Given the description of an element on the screen output the (x, y) to click on. 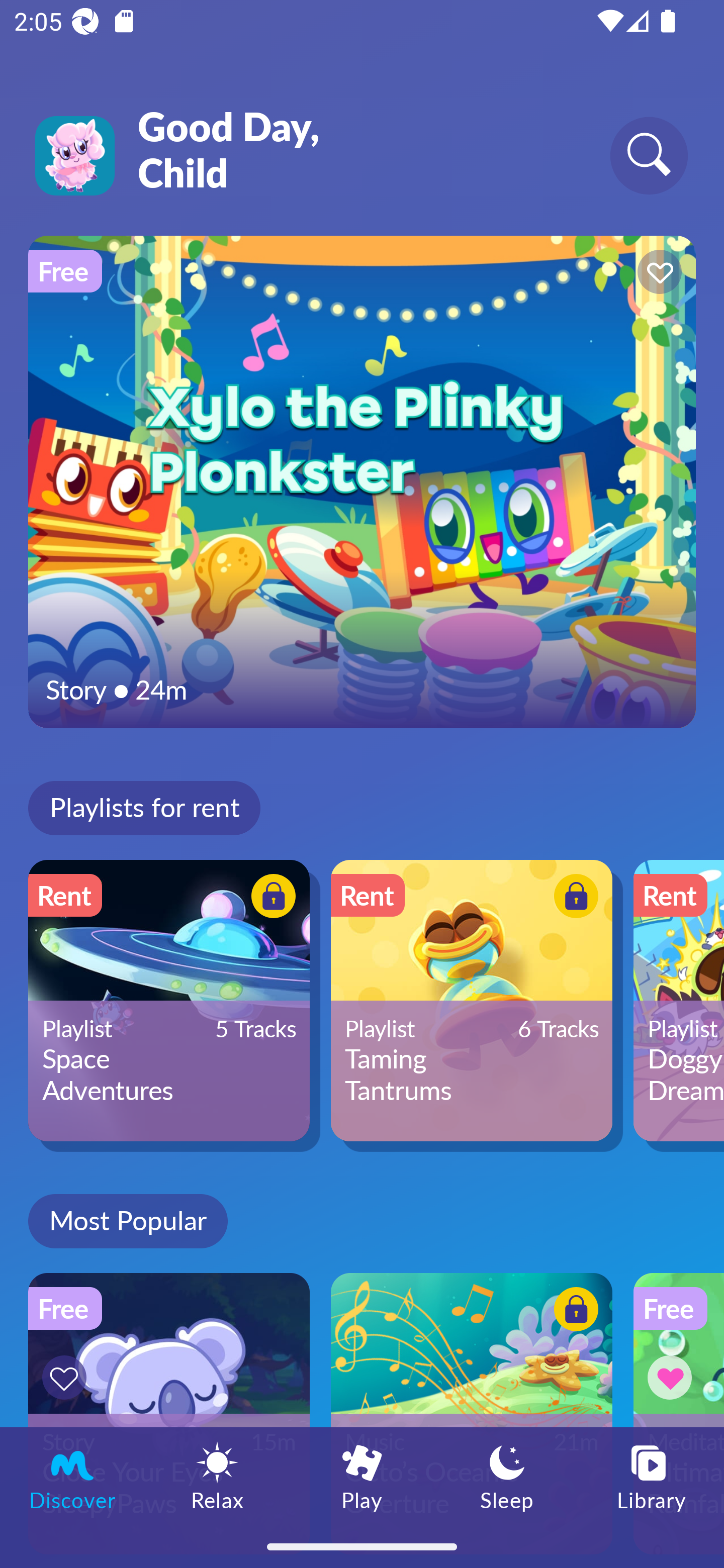
Search (648, 154)
Featured Content Free Button Story ● 24m (361, 481)
Button (656, 274)
Button (269, 898)
Button (573, 898)
Button (573, 1312)
Button (67, 1377)
Button (672, 1377)
Relax (216, 1475)
Play (361, 1475)
Sleep (506, 1475)
Library (651, 1475)
